Given the description of an element on the screen output the (x, y) to click on. 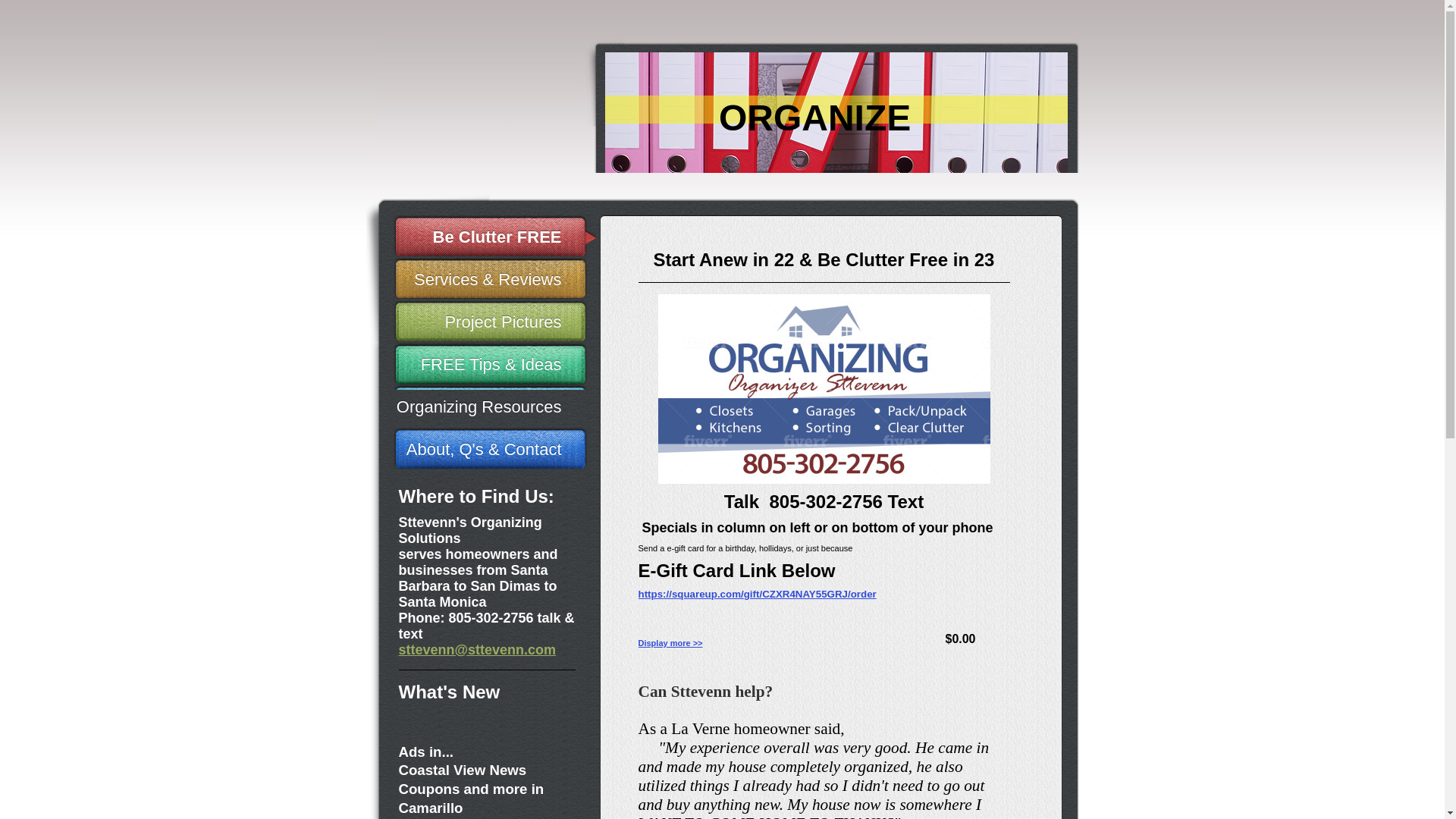
Organizing Resources (494, 405)
Be Clutter FREE (494, 236)
Project Pictures (494, 321)
ORGANIZE (815, 117)
